Given the description of an element on the screen output the (x, y) to click on. 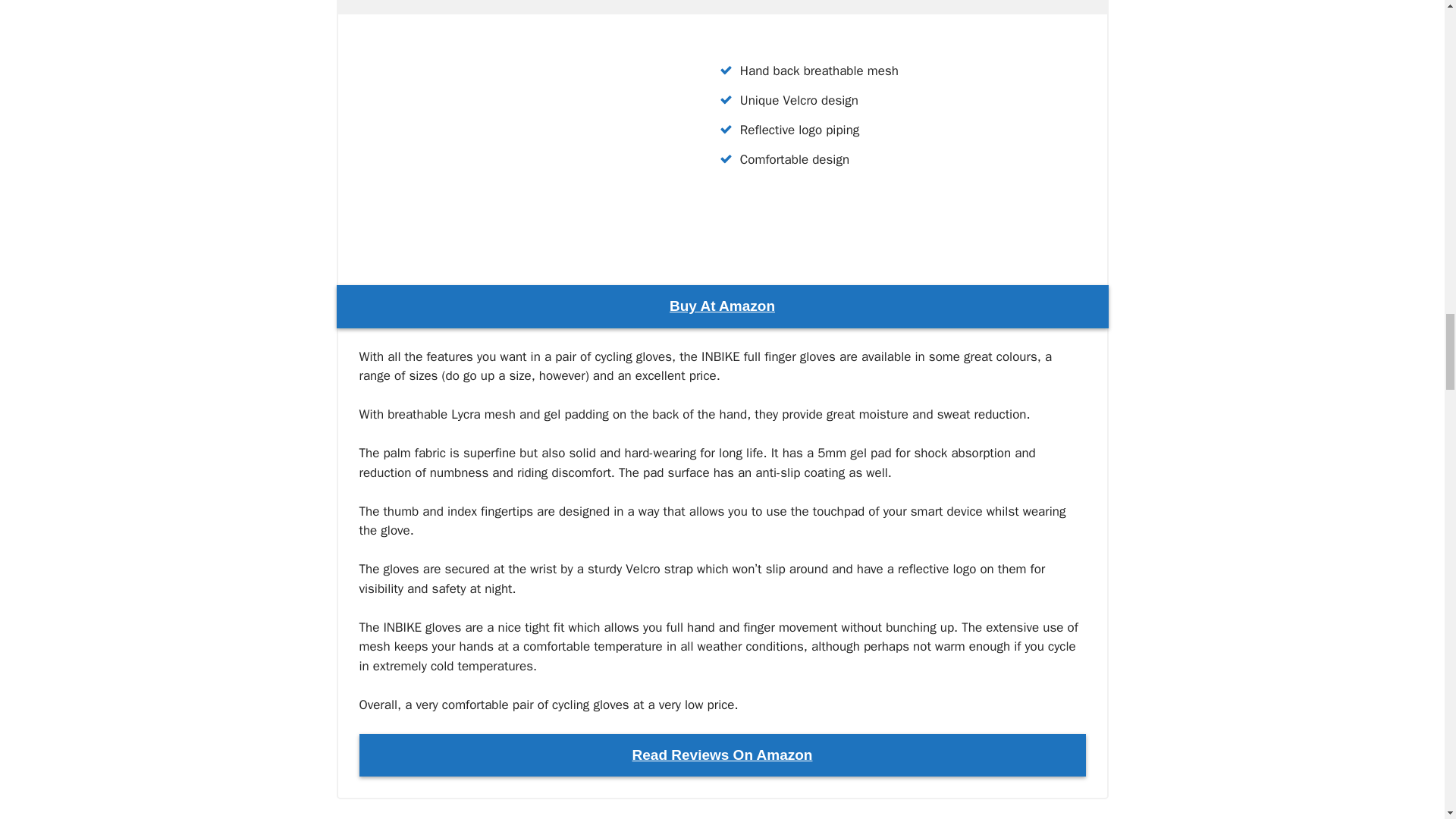
Buy At Amazon (722, 306)
Read Reviews On Amazon (722, 755)
cycle-gloves-3 (512, 143)
